Given the description of an element on the screen output the (x, y) to click on. 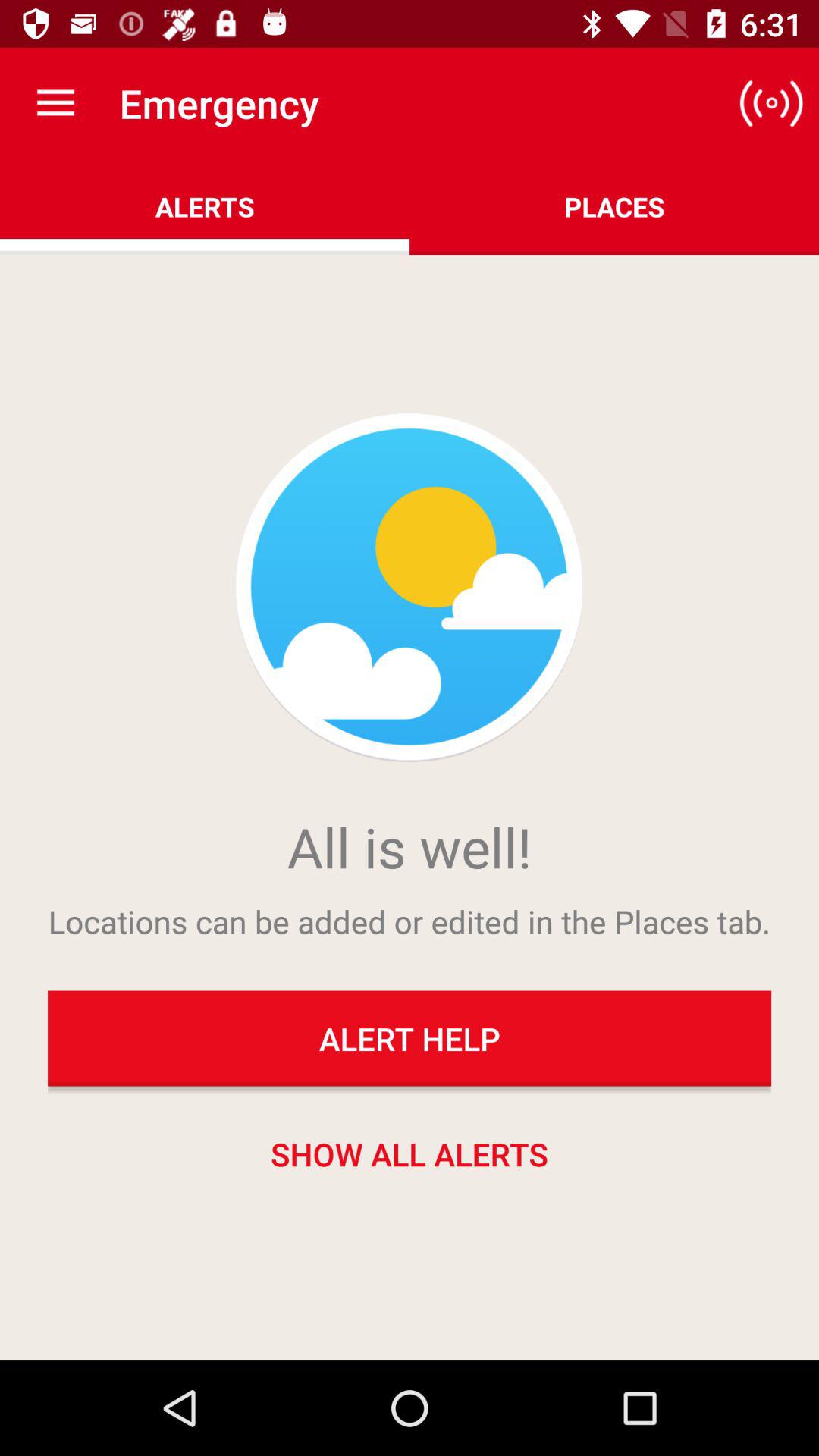
swipe to the alert help (409, 1038)
